Given the description of an element on the screen output the (x, y) to click on. 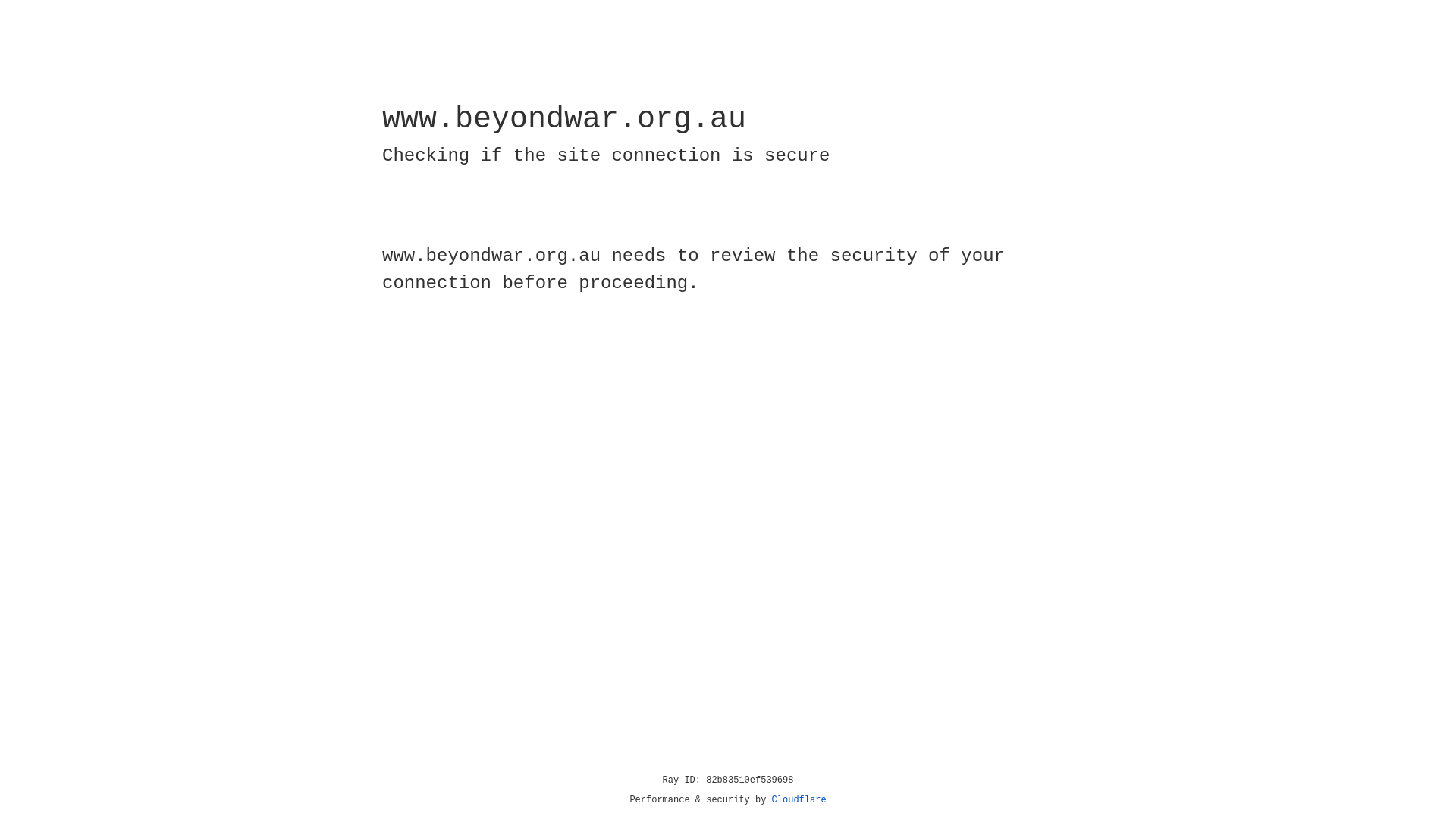
Cloudflare Element type: text (798, 799)
